Given the description of an element on the screen output the (x, y) to click on. 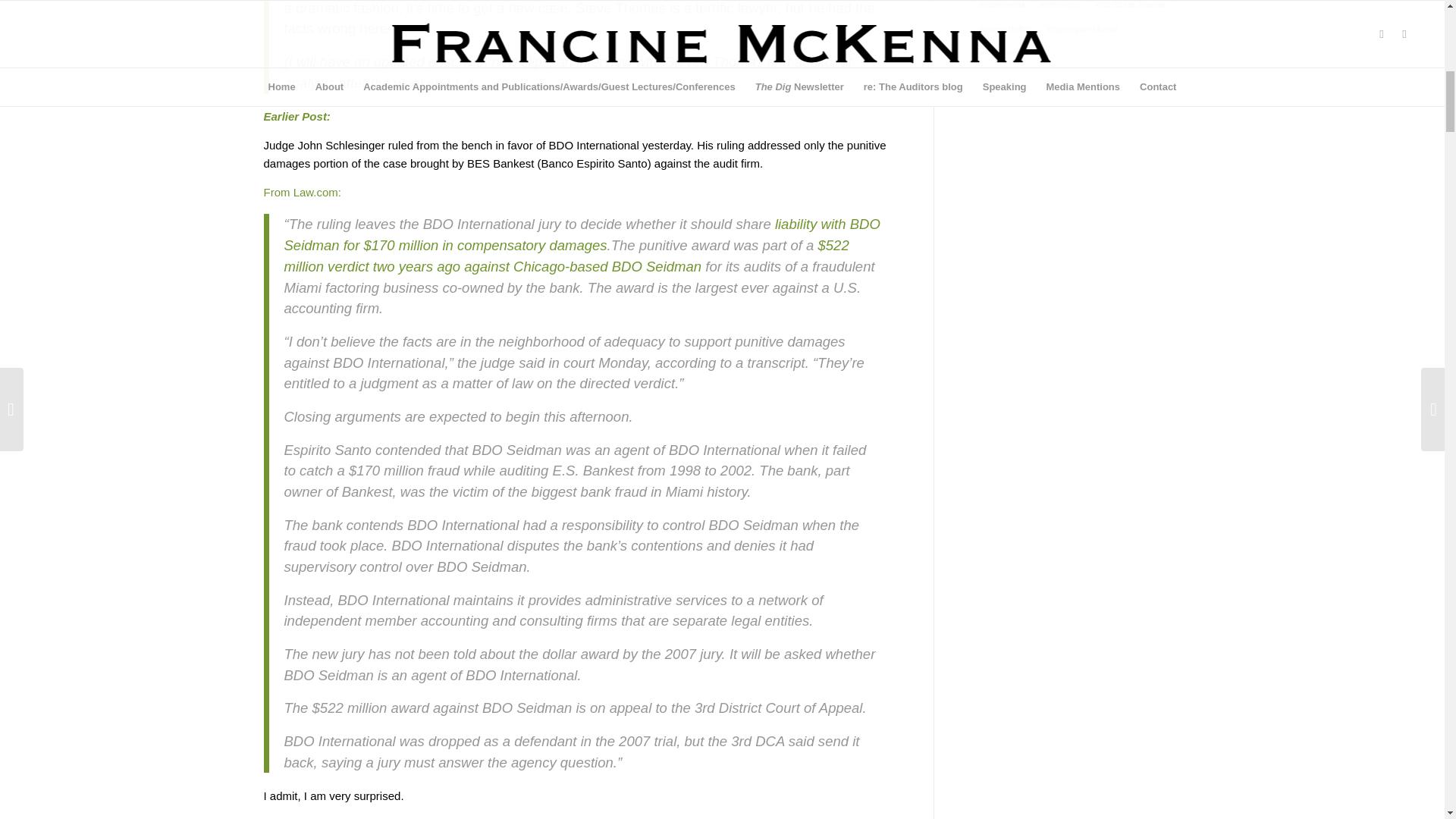
From Law.com: (302, 192)
